Given the description of an element on the screen output the (x, y) to click on. 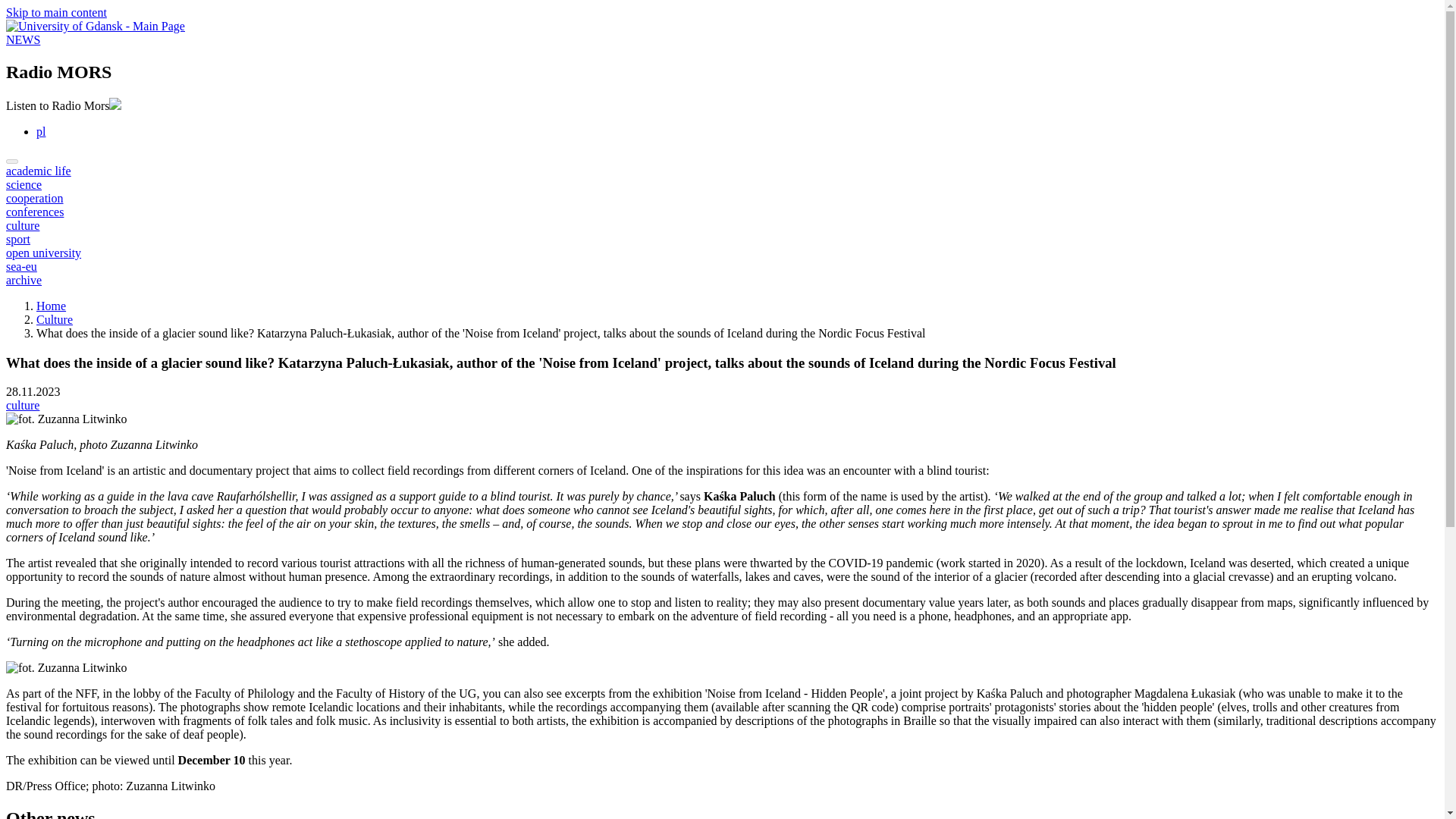
University of Gdansk - Main Page (94, 25)
Culture (54, 318)
conferences (34, 211)
cooperation (34, 197)
culture (22, 404)
culture (22, 225)
Home (50, 305)
Listen to Radio Mors (62, 105)
archive (23, 279)
science (23, 184)
